Given the description of an element on the screen output the (x, y) to click on. 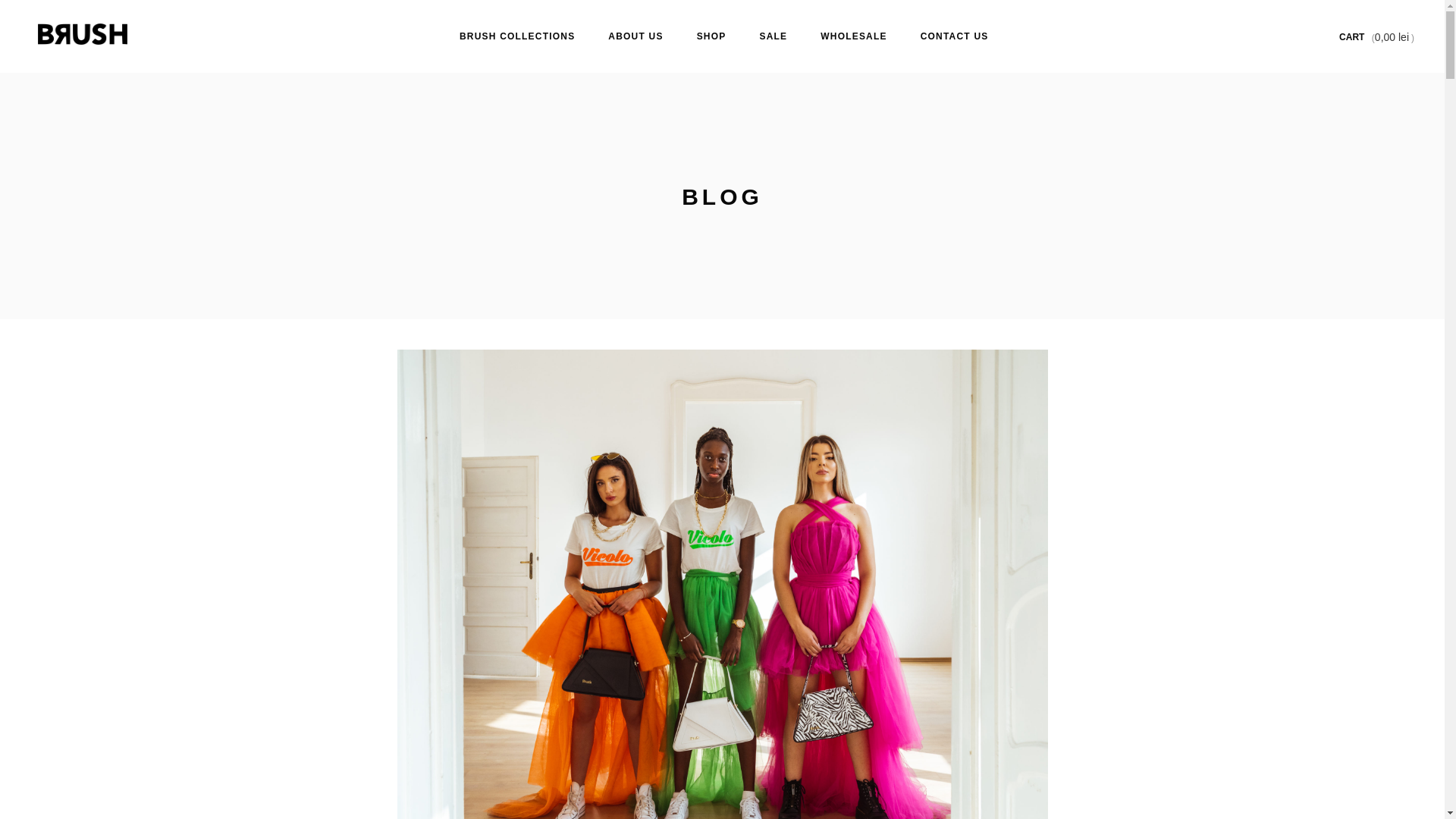
BRUSH COLLECTIONS (516, 36)
ABOUT US (635, 36)
WHOLESALE (852, 36)
CONTACT US (955, 36)
